Given the description of an element on the screen output the (x, y) to click on. 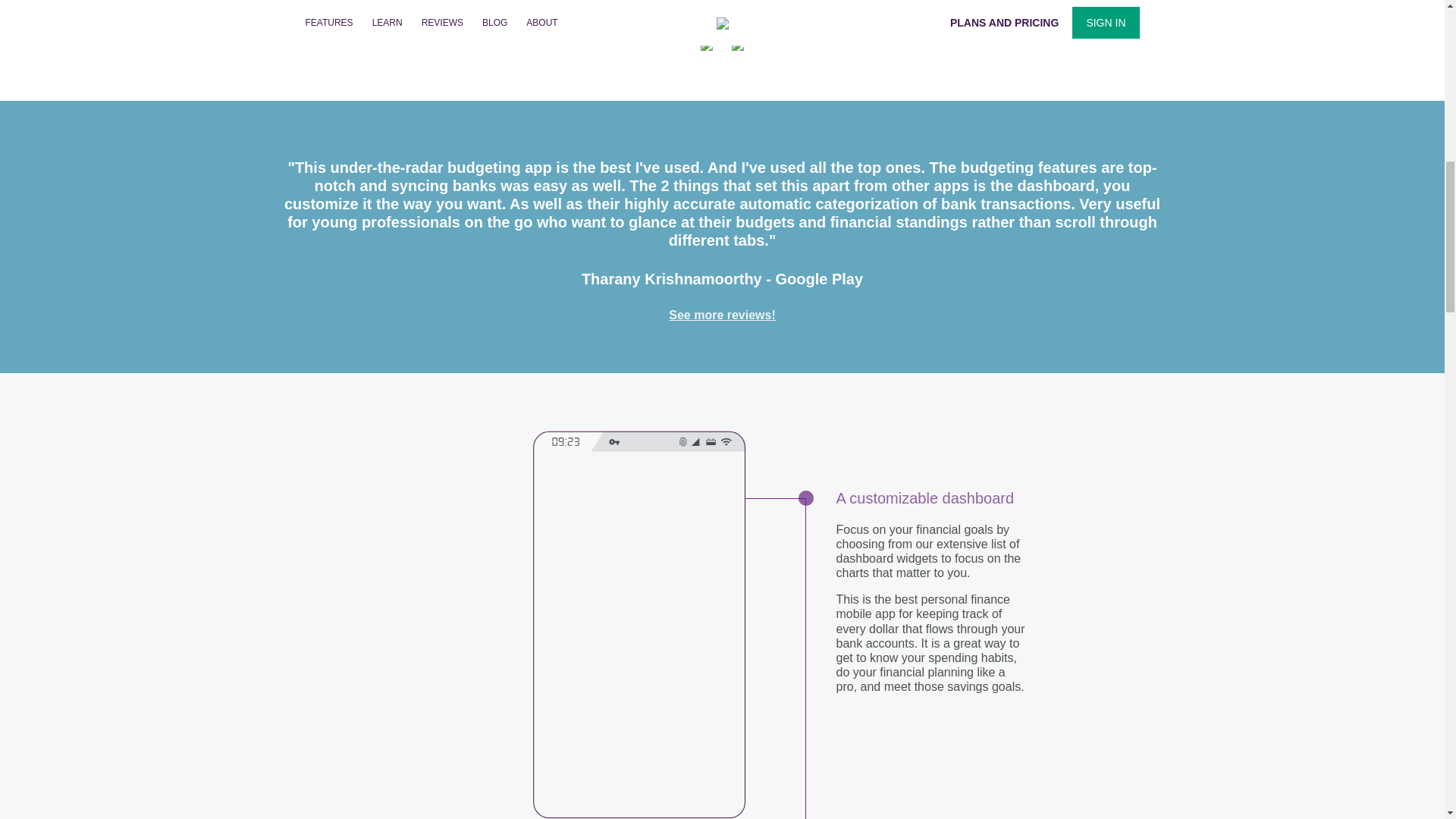
See more reviews! (722, 314)
